Given the description of an element on the screen output the (x, y) to click on. 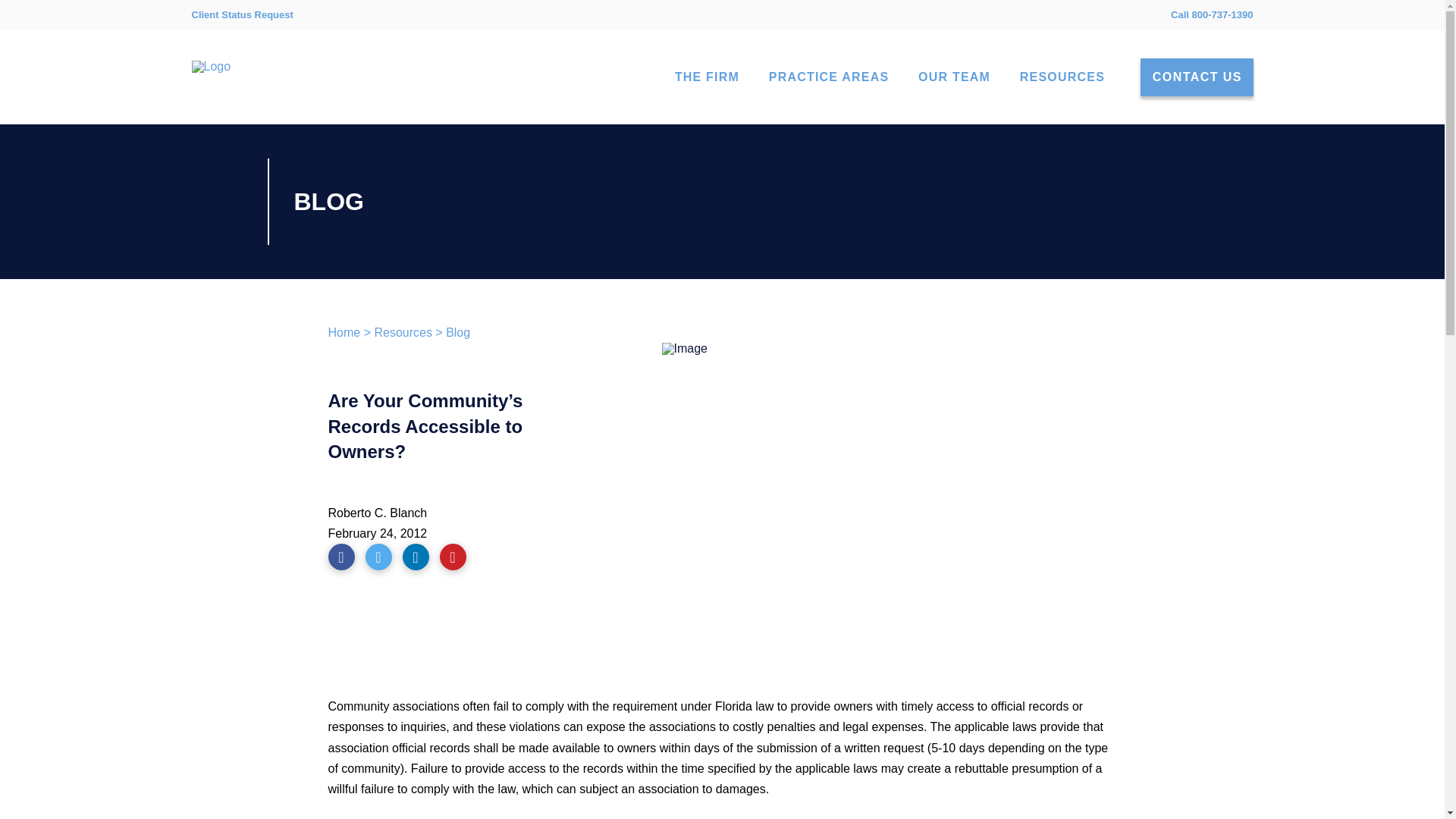
CONTACT US (1196, 77)
Resources (402, 332)
Call 800-737-1390 (1211, 14)
Blog (457, 332)
PRACTICE AREAS (828, 76)
RESOURCES (1061, 76)
OUR TEAM (953, 76)
Home (343, 332)
THE FIRM (706, 76)
Client Status Request (241, 15)
